Given the description of an element on the screen output the (x, y) to click on. 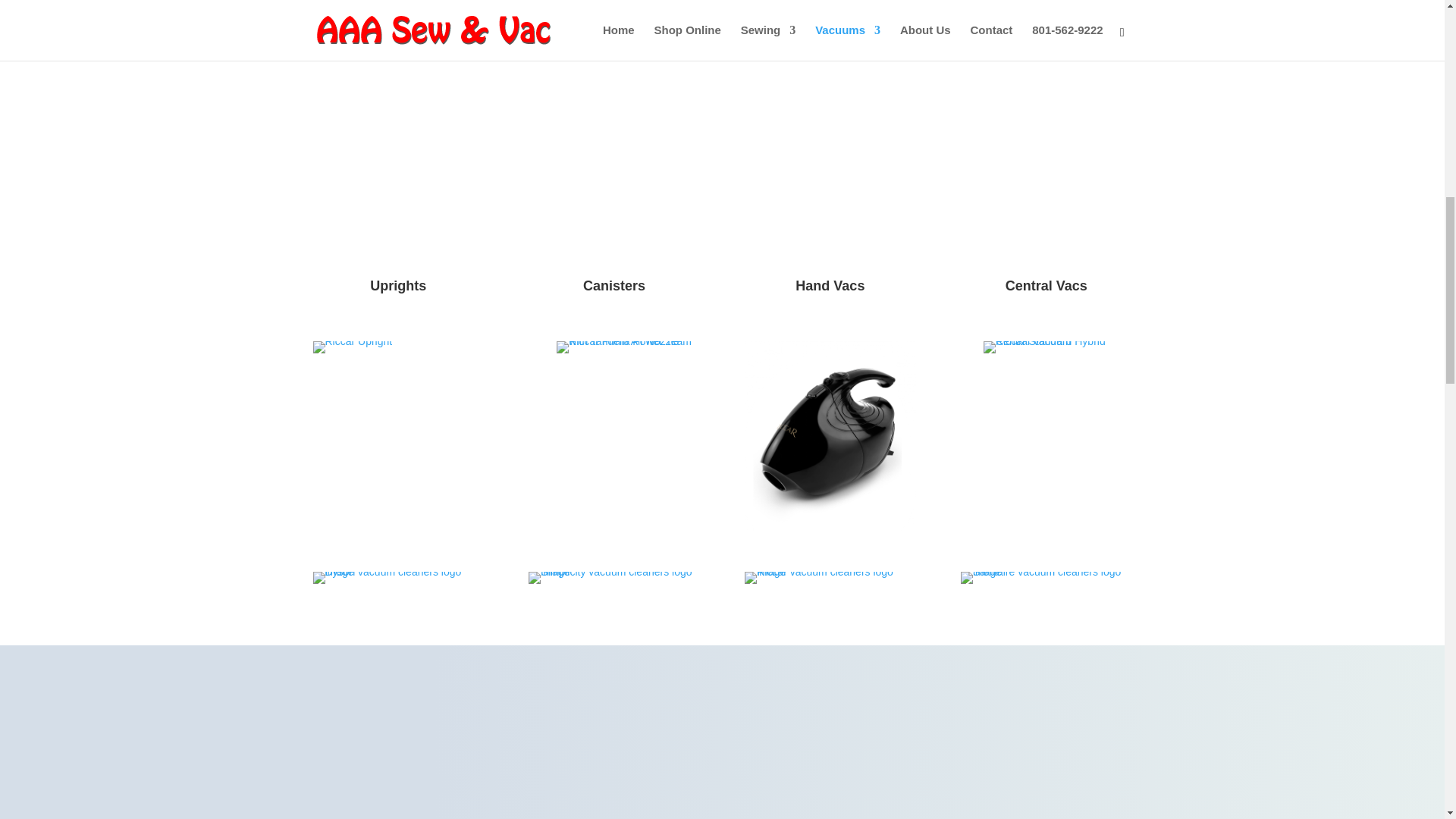
Simplicity-vacuum-cleaners-200 (613, 577)
dyson-vacuum-cleaners-200 (398, 577)
Riccar-vacuum-cleaners-200 (829, 577)
Sanitaire-vacuum-cleaners-200 (1045, 577)
